Given the description of an element on the screen output the (x, y) to click on. 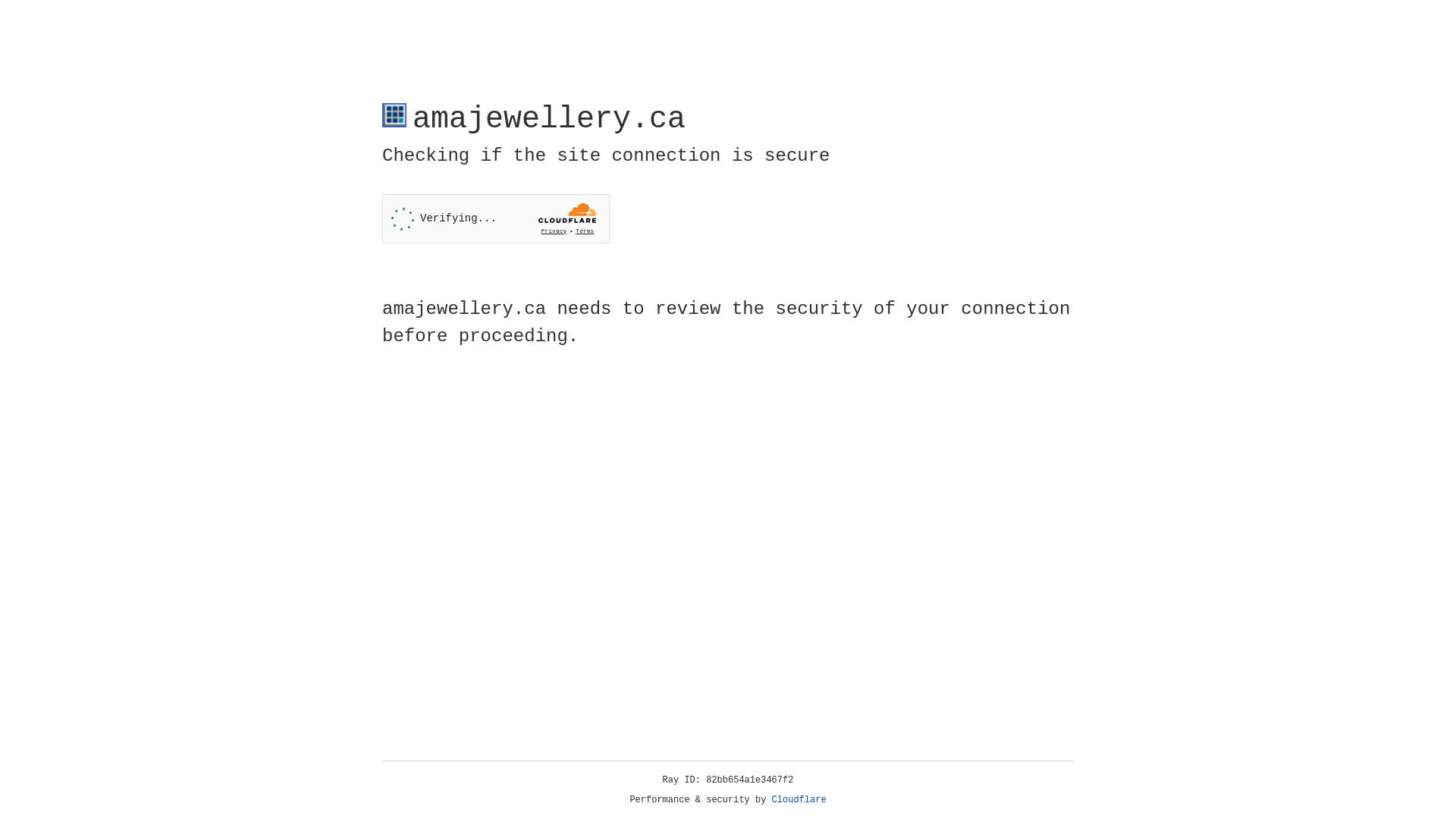
Cloudflare Element type: text (798, 799)
Widget containing a Cloudflare security challenge Element type: hover (495, 218)
